Given the description of an element on the screen output the (x, y) to click on. 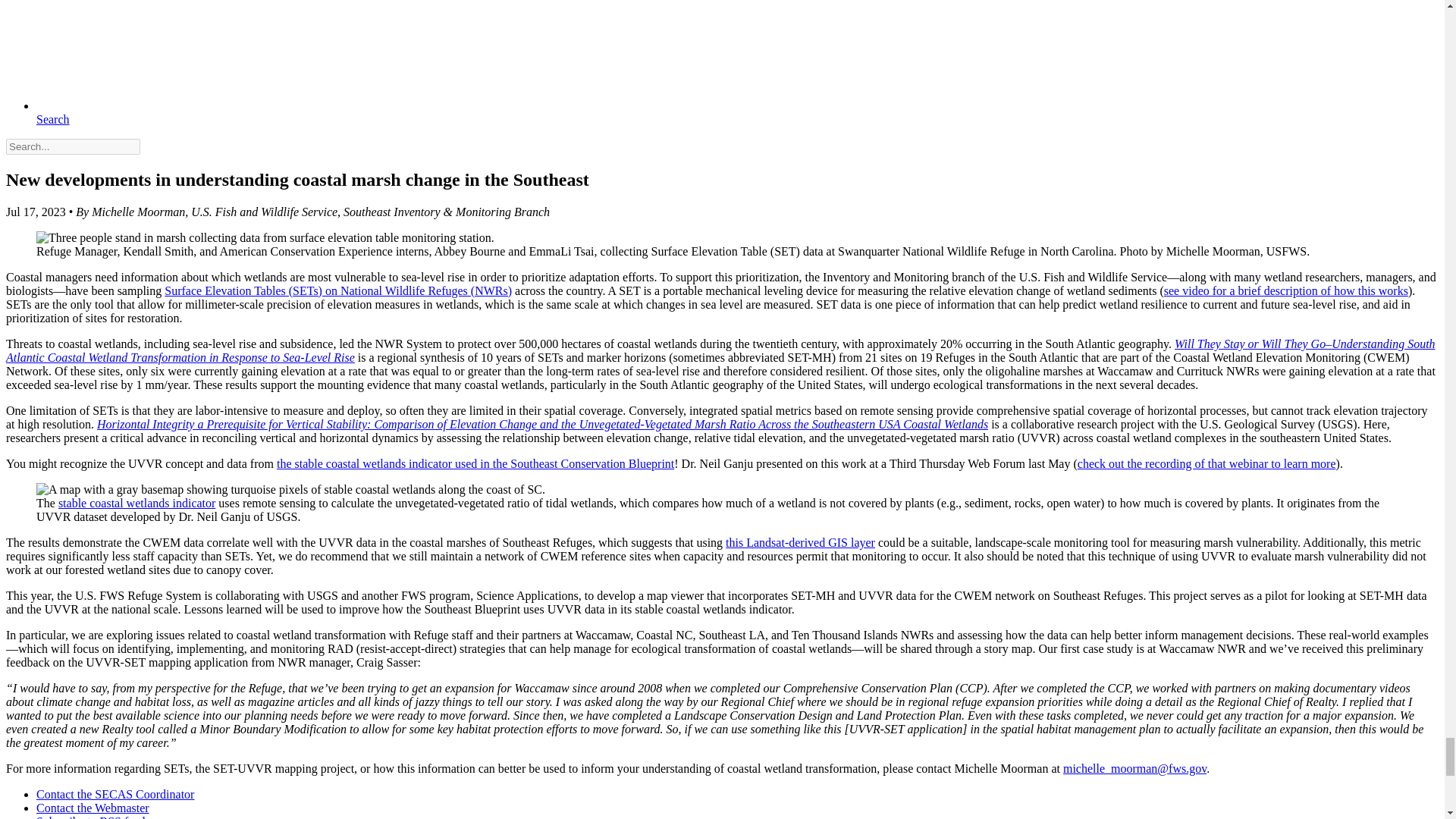
Contact the Webmaster (92, 807)
see video for a brief description of how this works (1285, 290)
Subscribe to RSS feed (90, 816)
check out the recording of that webinar to learn more (1206, 463)
Contact the SECAS Coordinator (114, 793)
this Landsat-derived GIS layer (800, 542)
stable coastal wetlands indicator (136, 502)
